Given the description of an element on the screen output the (x, y) to click on. 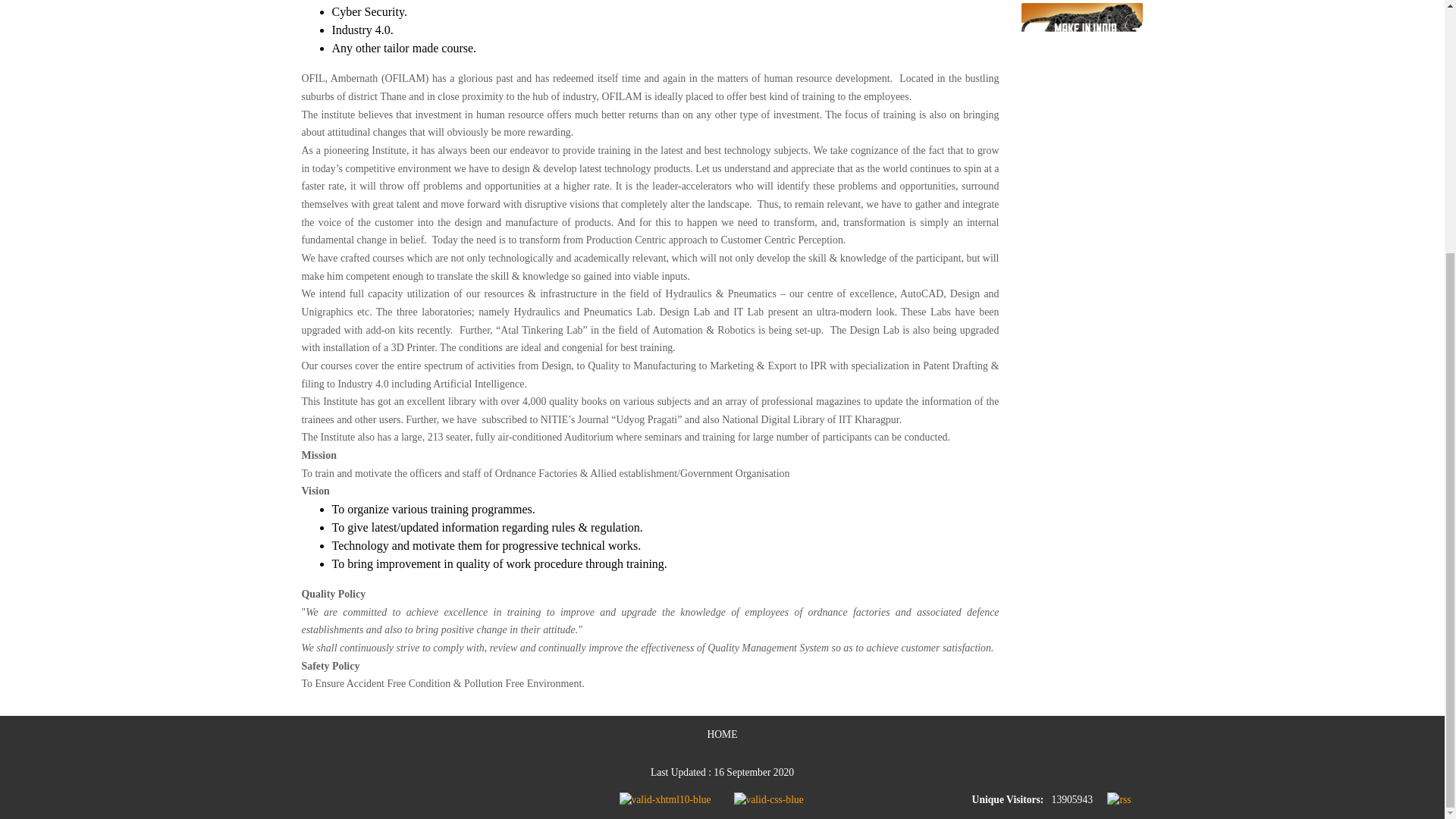
RSS Feed (1118, 799)
